Given the description of an element on the screen output the (x, y) to click on. 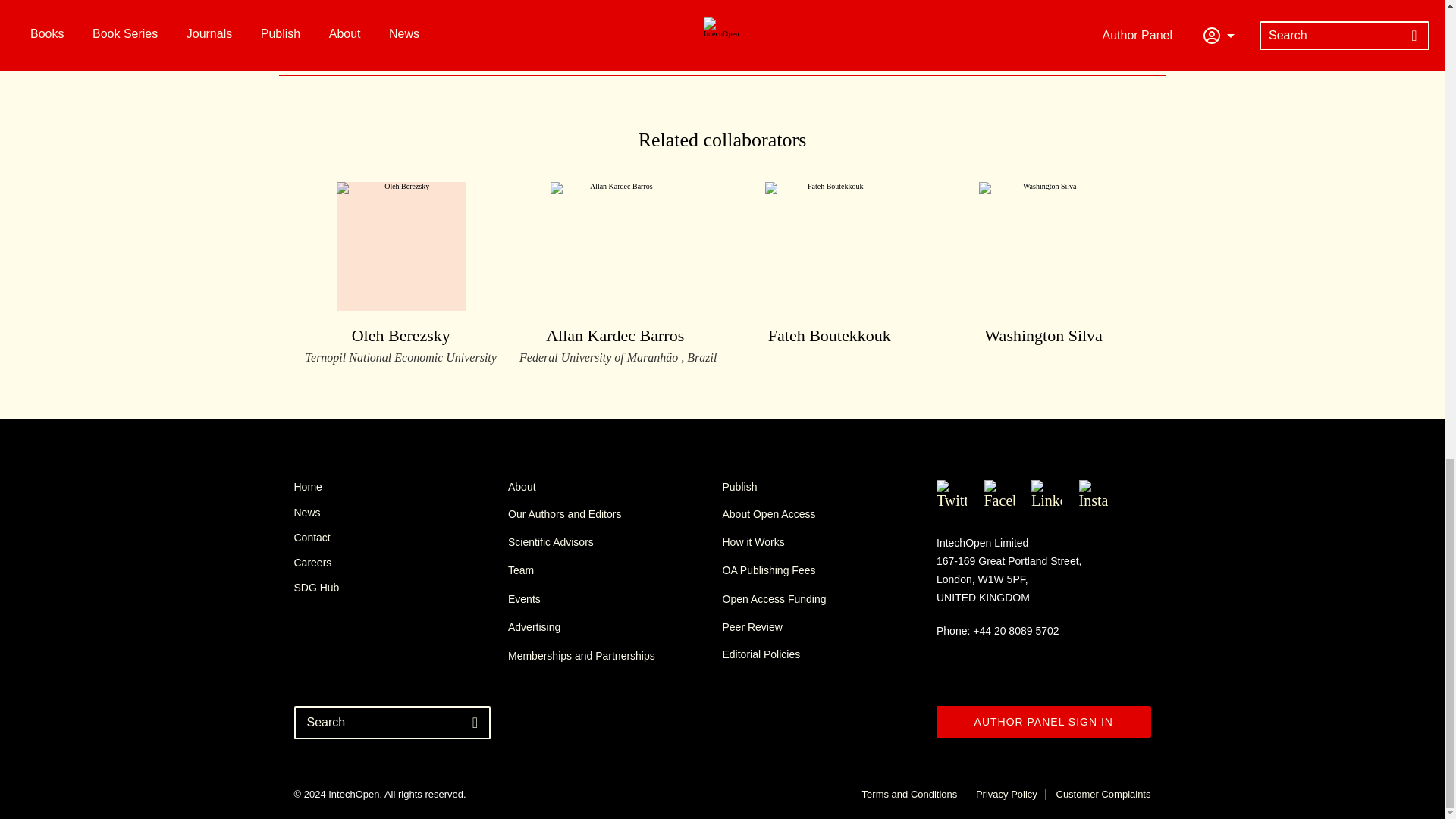
Fateh Boutekkouk (829, 265)
Home (401, 486)
Contact (401, 537)
Intelligent System (553, 15)
SDG Hub (401, 587)
Careers (401, 273)
News (401, 562)
About (401, 512)
Washington Silva (615, 486)
